Given the description of an element on the screen output the (x, y) to click on. 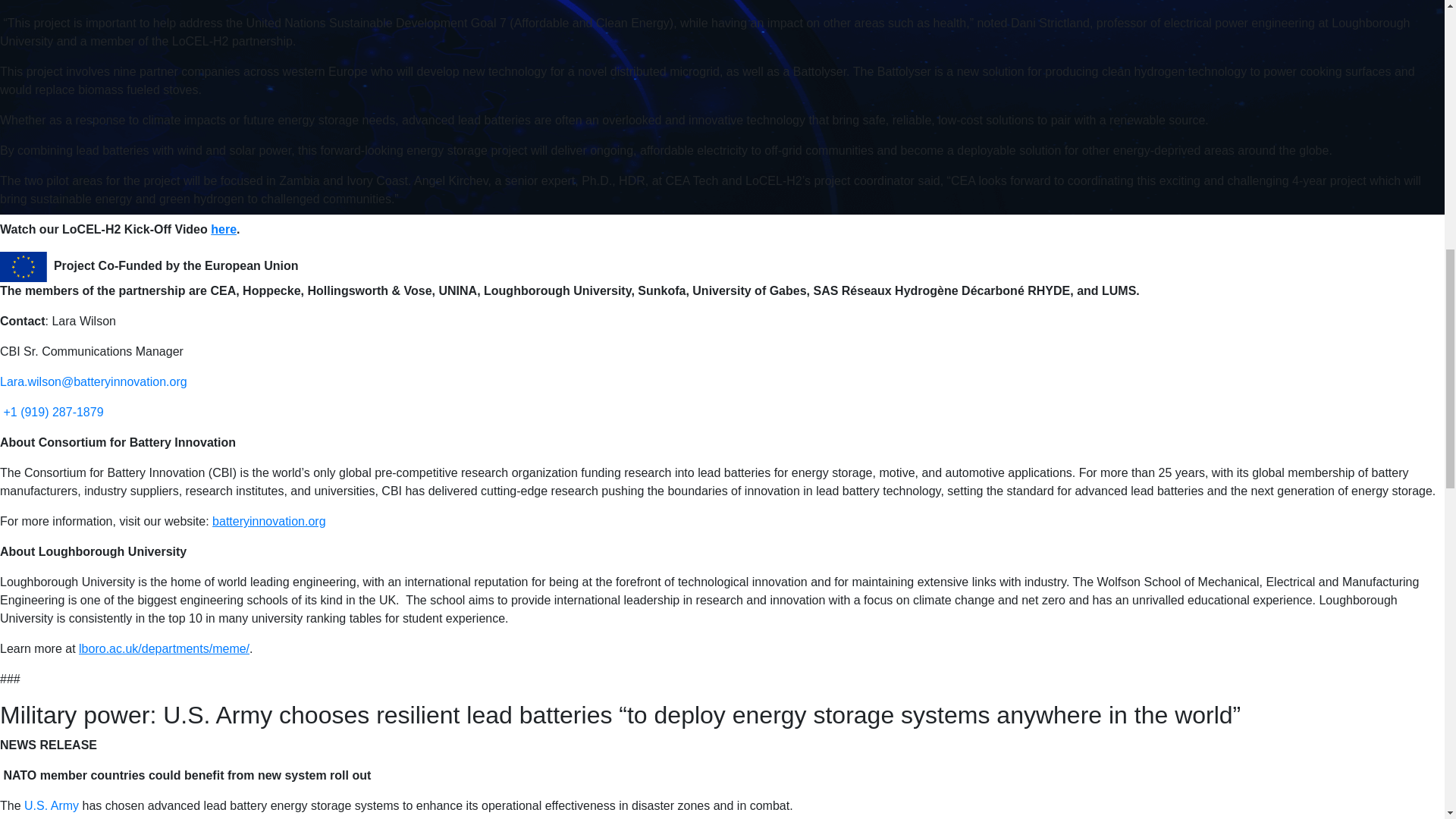
here (223, 228)
batteryinnovation.org (268, 521)
U.S. Army (49, 805)
